Given the description of an element on the screen output the (x, y) to click on. 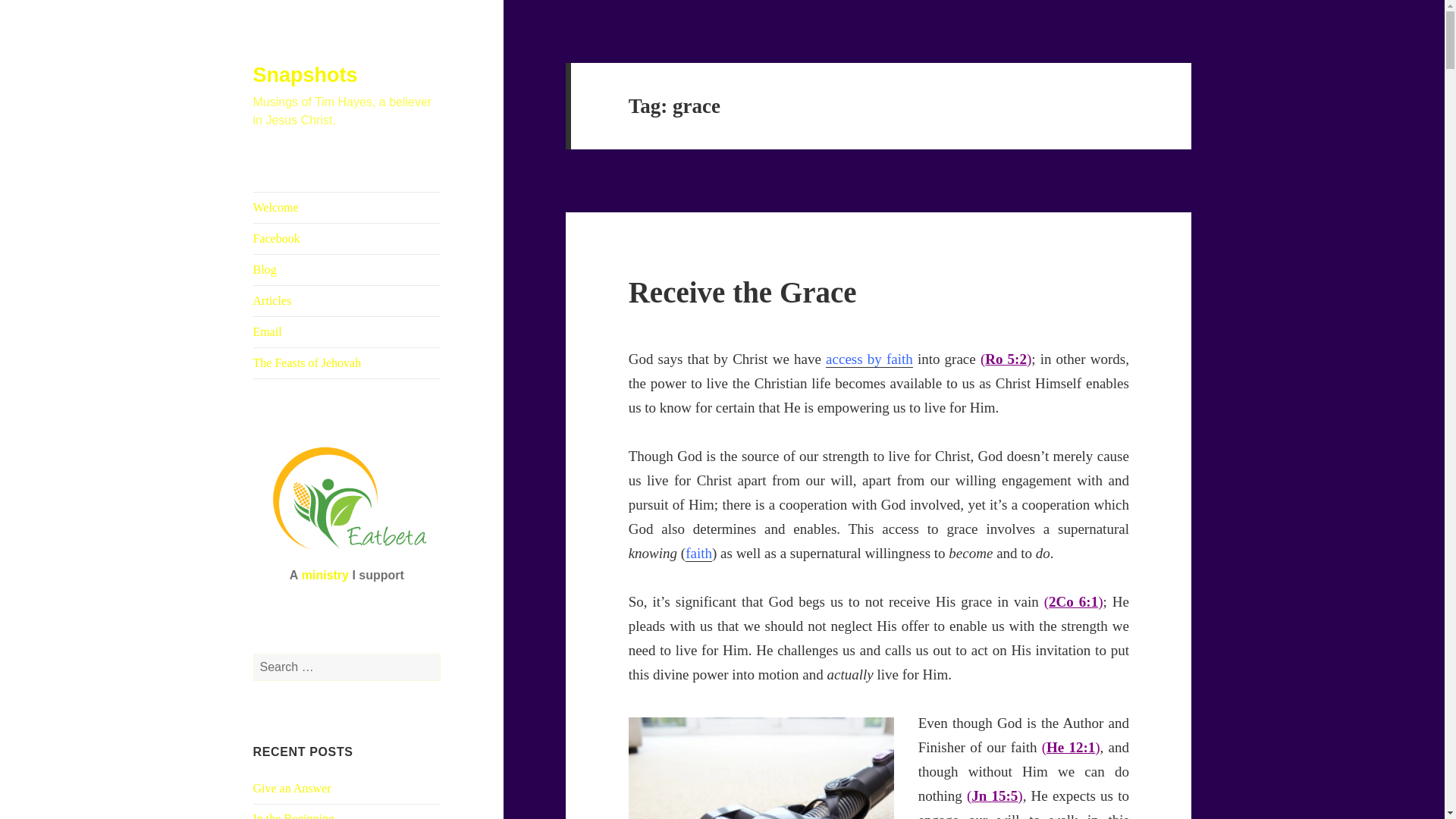
Blog (347, 269)
ministry (325, 574)
Welcome (347, 207)
Articles (347, 300)
Facebook (347, 238)
Give an Answer (292, 788)
Email (347, 331)
In the Beginning (293, 815)
The Feasts of Jehovah (347, 363)
Snapshots (305, 74)
